Given the description of an element on the screen output the (x, y) to click on. 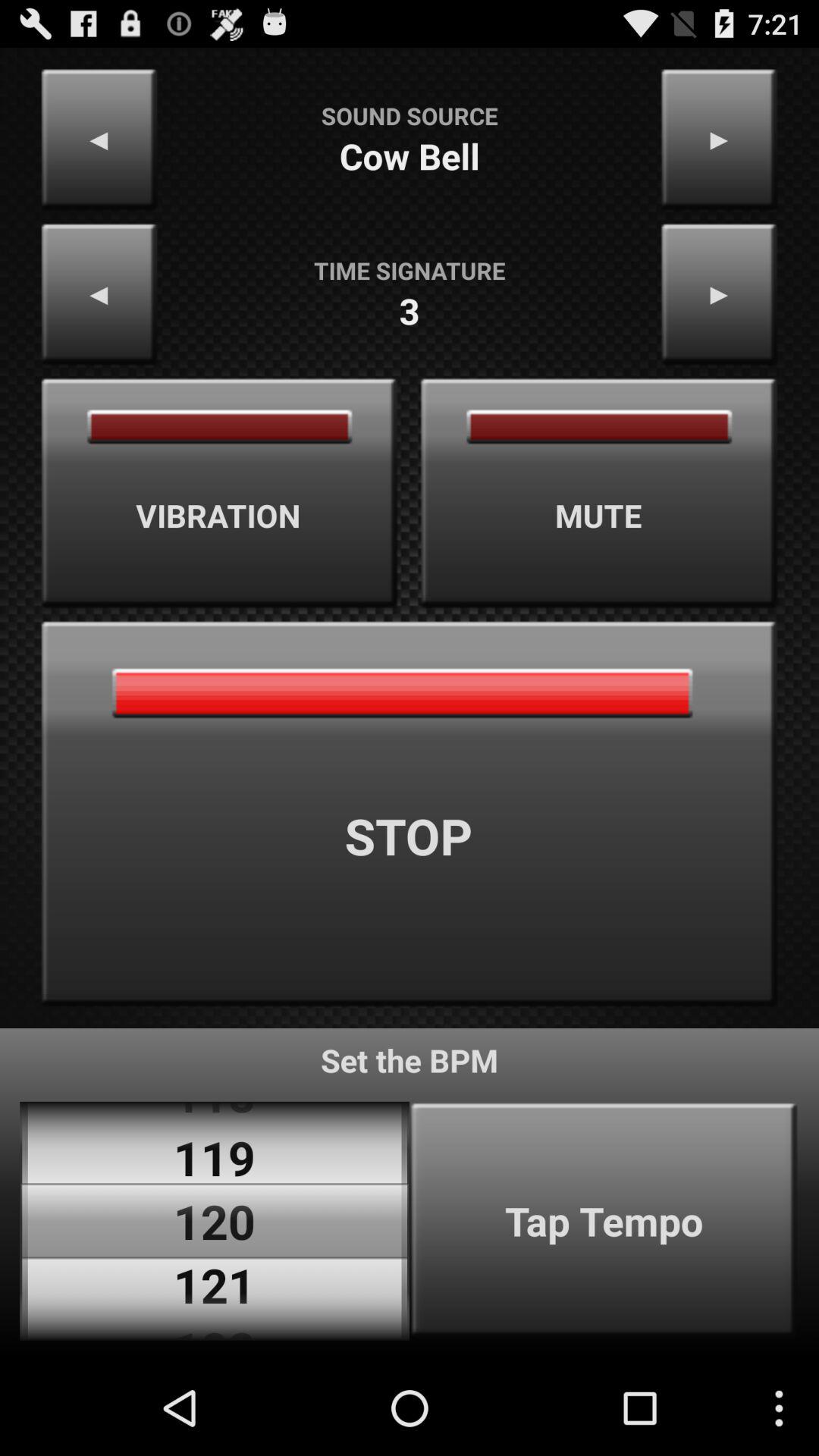
open vibration item (219, 493)
